Given the description of an element on the screen output the (x, y) to click on. 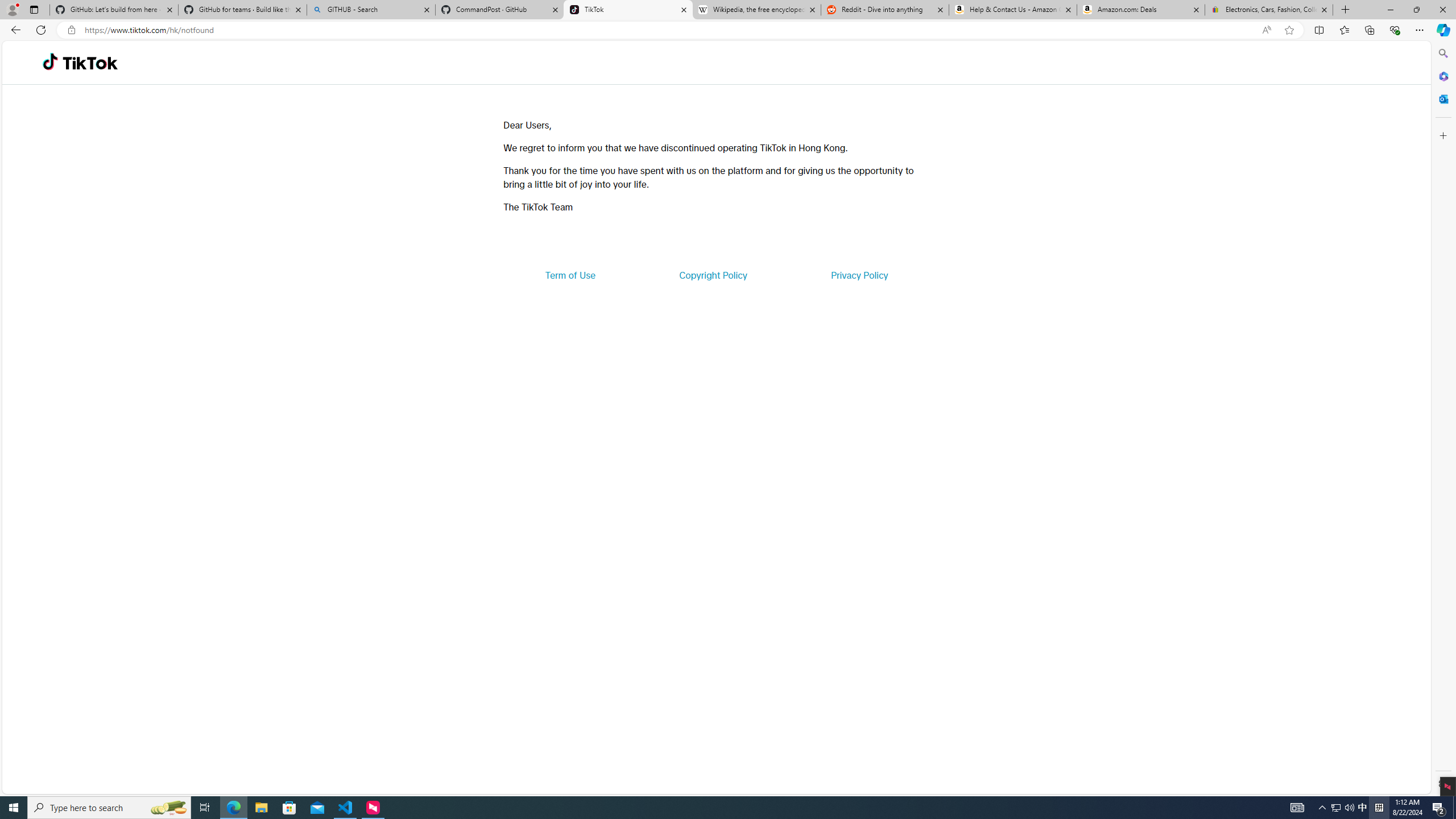
Term of Use (569, 274)
Privacy Policy (858, 274)
Electronics, Cars, Fashion, Collectibles & More | eBay (1268, 9)
Reddit - Dive into anything (884, 9)
Help & Contact Us - Amazon Customer Service (1012, 9)
